Given the description of an element on the screen output the (x, y) to click on. 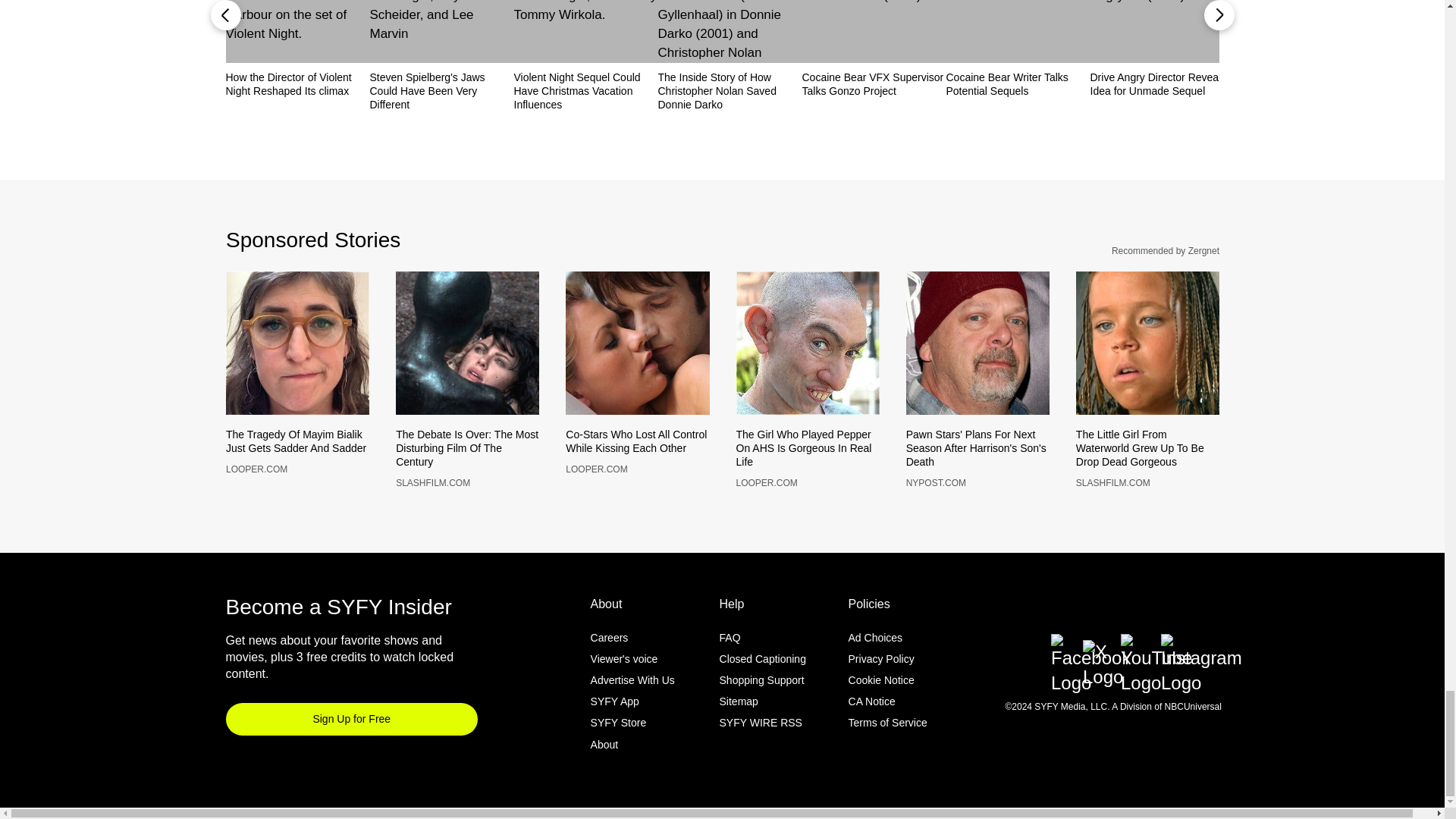
How the Director of Violent Night Reshaped Its climax (297, 83)
Advertise With Us (633, 705)
Steven Spielberg's Jaws Could Have Been Very Different (441, 90)
